Given the description of an element on the screen output the (x, y) to click on. 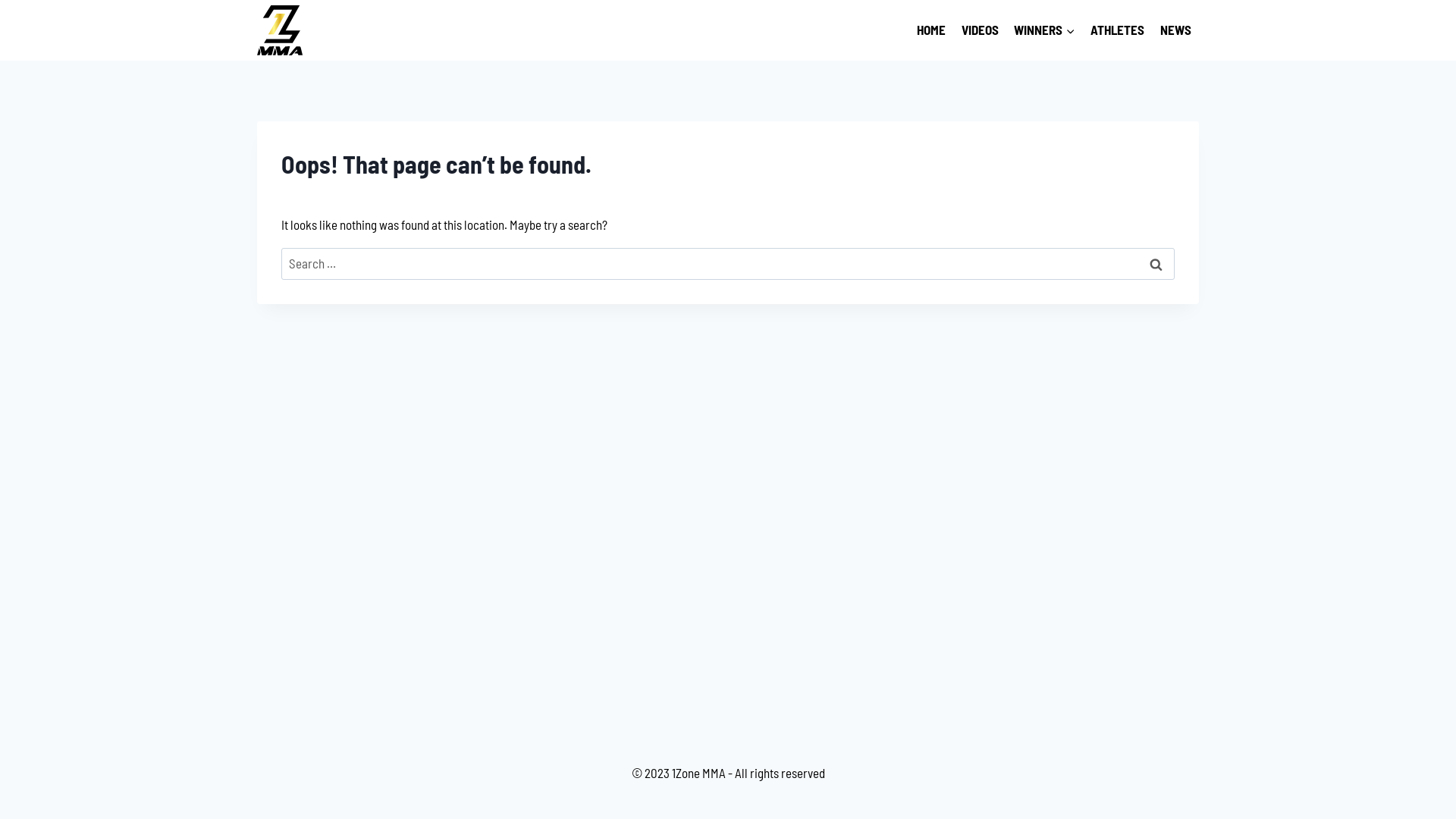
HOME Element type: text (931, 30)
VIDEOS Element type: text (979, 30)
WINNERS Element type: text (1044, 30)
NEWS Element type: text (1175, 30)
Search Element type: text (1155, 263)
ATHLETES Element type: text (1116, 30)
